Given the description of an element on the screen output the (x, y) to click on. 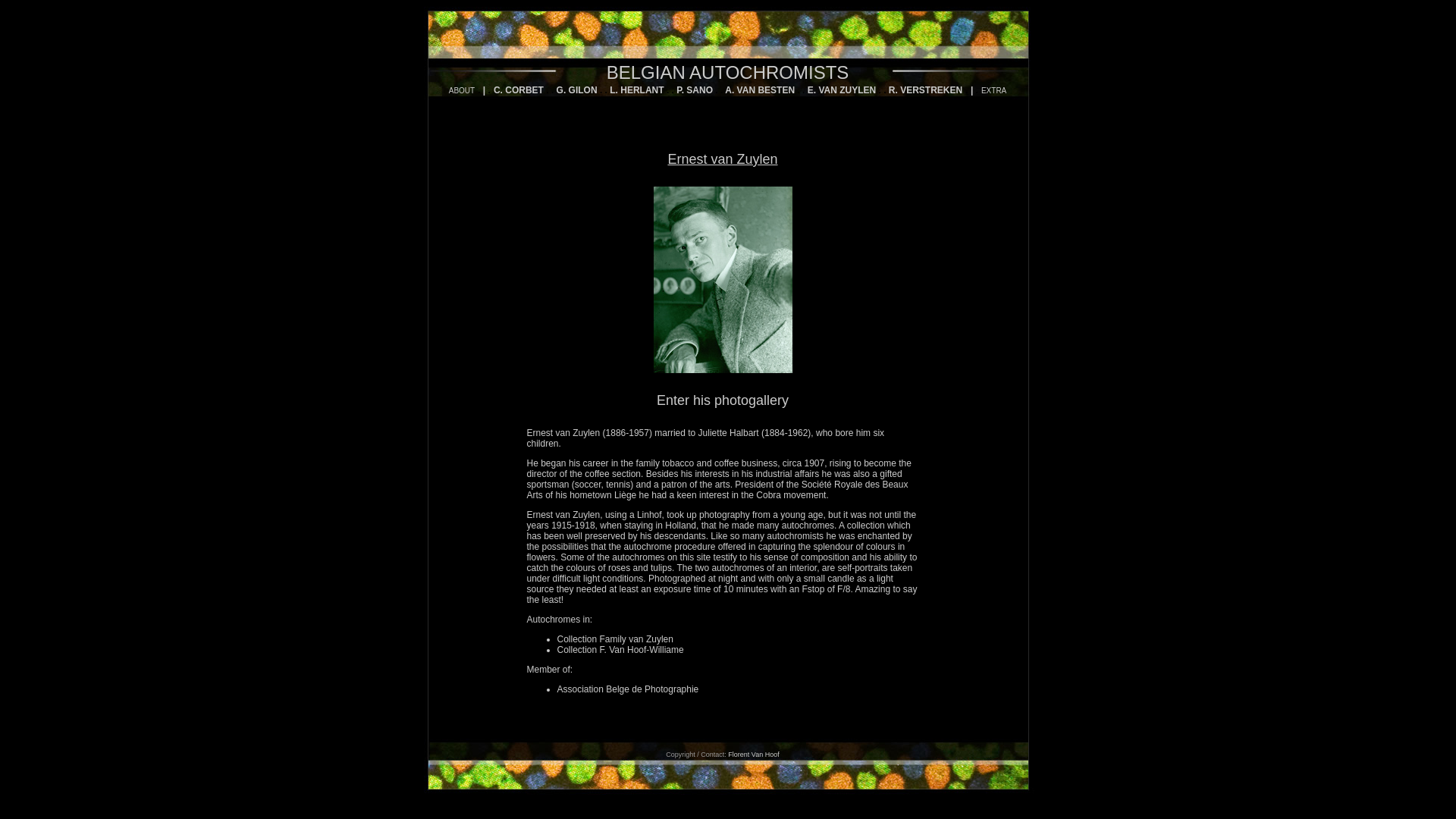
G. GILON Element type: text (576, 89)
E. VAN ZUYLEN Element type: text (841, 89)
L. HERLANT Element type: text (636, 89)
C. CORBET Element type: text (518, 89)
A. VAN BESTEN Element type: text (759, 89)
R. VERSTREKEN Element type: text (925, 89)
Enter his photogallery Element type: text (722, 399)
ABOUT Element type: text (461, 87)
P. SANO Element type: text (694, 89)
EXTRA Element type: text (993, 90)
Florent Van Hoof Element type: text (753, 754)
